Given the description of an element on the screen output the (x, y) to click on. 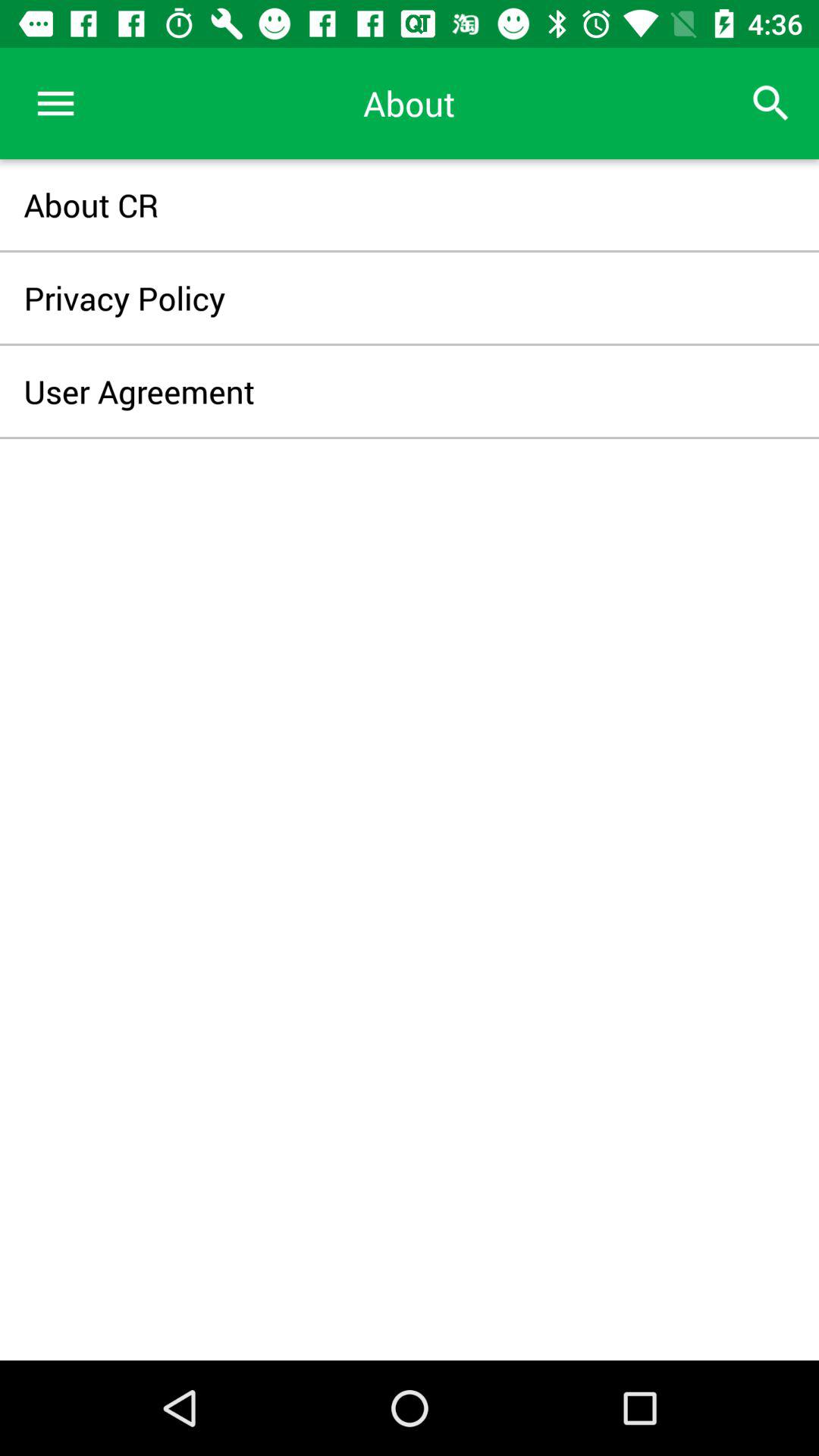
launch icon at the top right corner (771, 103)
